Given the description of an element on the screen output the (x, y) to click on. 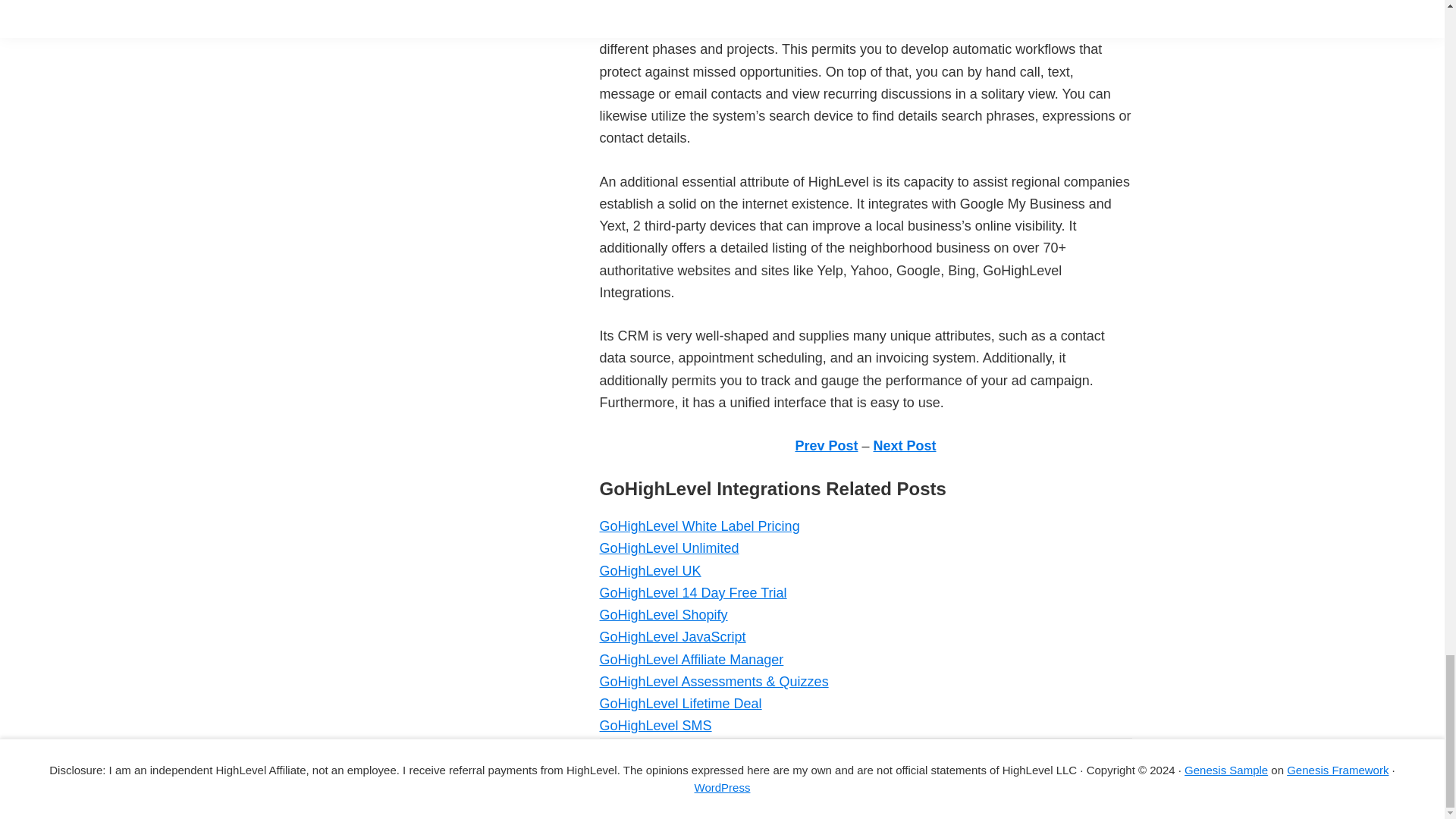
GoHighLevel UK (649, 570)
GoHighLevel Affiliate Manager (690, 659)
GoHighLevel SMS (654, 725)
GoHighLevel 14 Day Free Trial (692, 592)
GoHighLevel Lifetime Deal (679, 703)
GoHighLevel JavaScript (671, 636)
GoHighLevel White Label Pricing (698, 525)
GoHighLevel UK (649, 570)
GoHighLevel 14 Day Free Trial (692, 592)
GoHighLevel Affiliate Manager (690, 659)
